Given the description of an element on the screen output the (x, y) to click on. 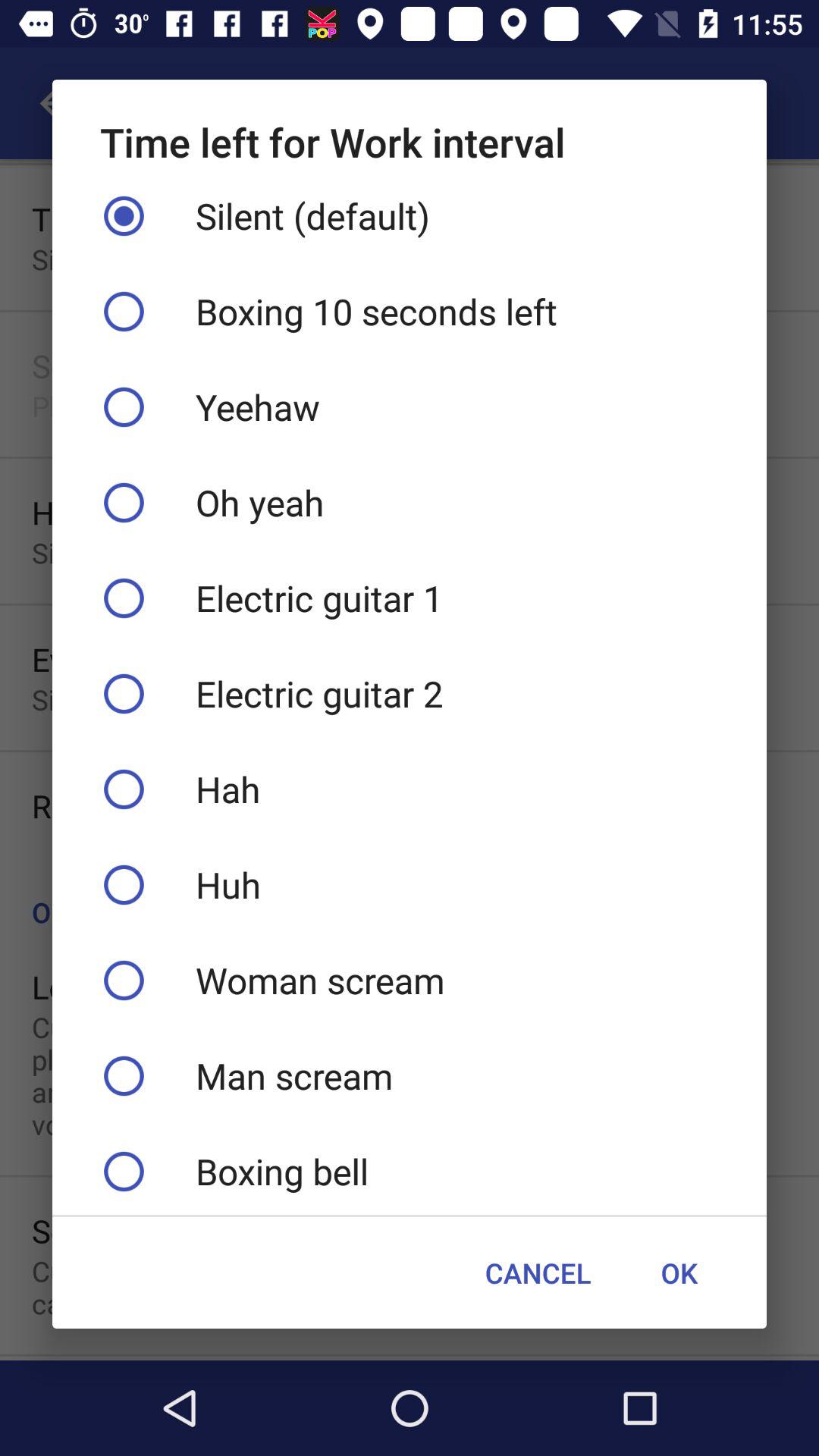
jump to the cancel (538, 1272)
